Given the description of an element on the screen output the (x, y) to click on. 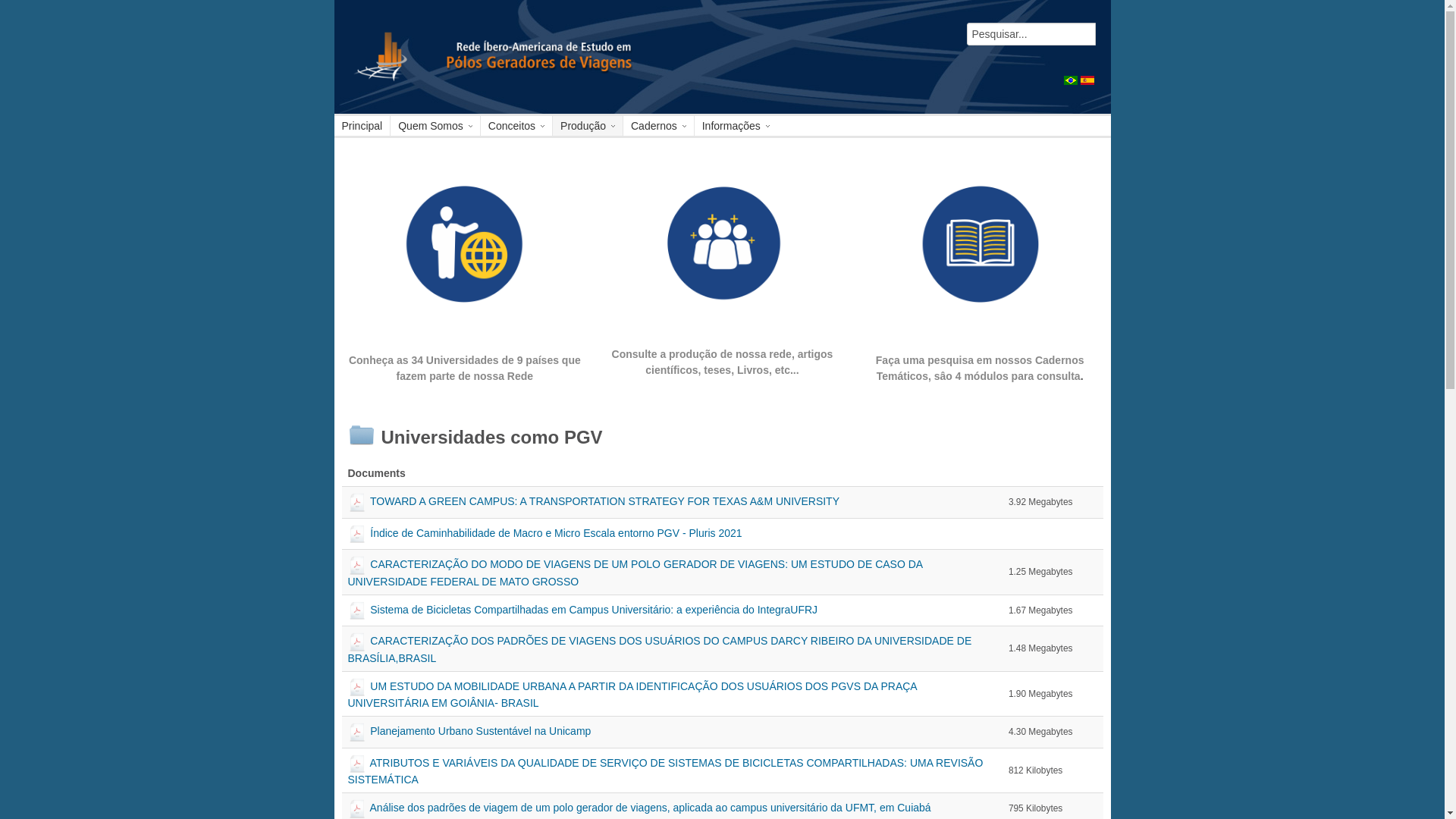
Principal Element type: text (361, 125)
Spanish (ES) Element type: hover (1086, 79)
Portugues (pr-BR) Element type: hover (1069, 79)
Cadernos Element type: text (658, 125)
Quem Somos Element type: text (435, 125)
Conceitos Element type: text (516, 125)
